Given the description of an element on the screen output the (x, y) to click on. 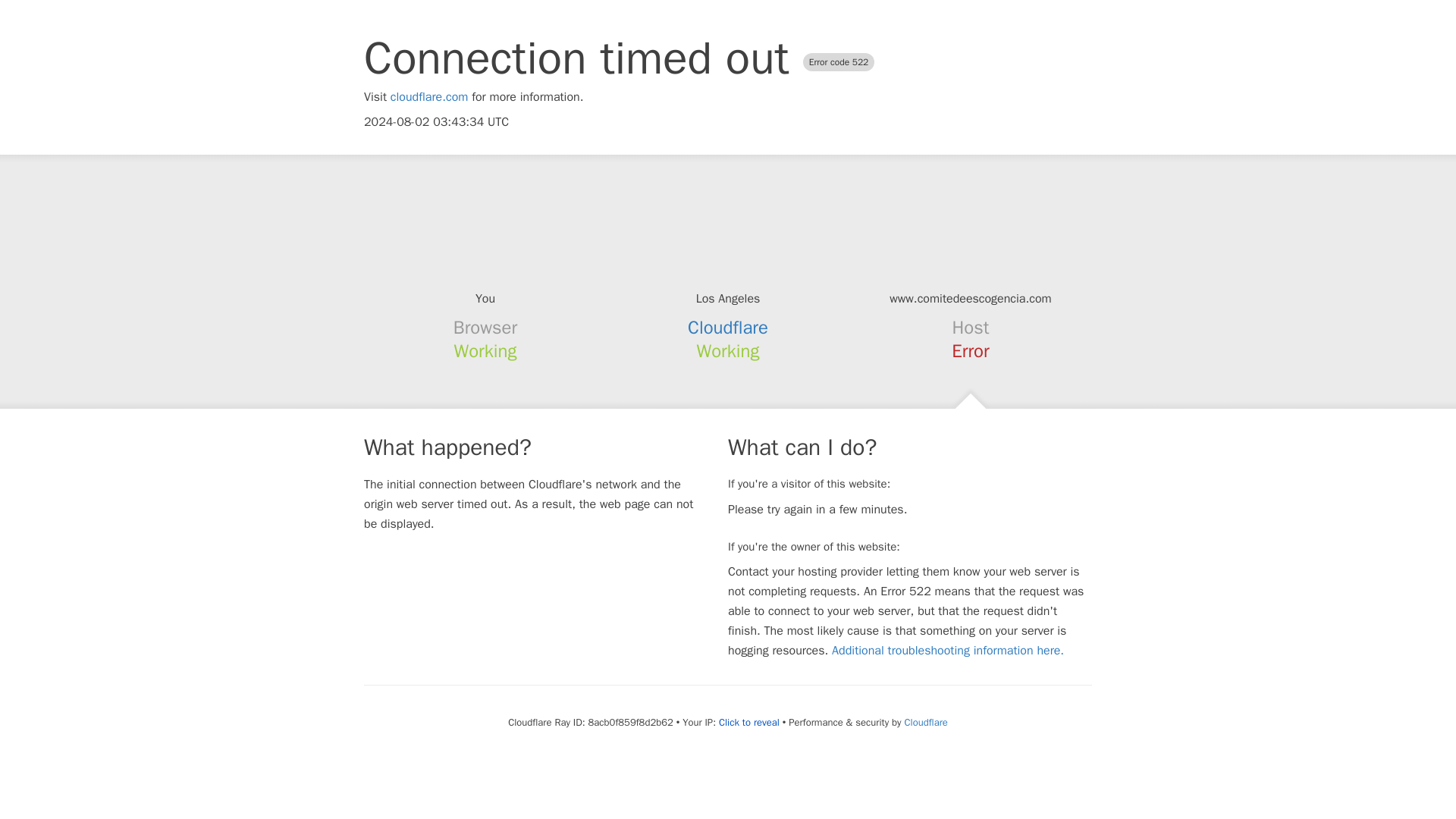
Additional troubleshooting information here. (947, 650)
cloudflare.com (429, 96)
Click to reveal (748, 722)
Cloudflare (727, 327)
Cloudflare (925, 721)
